Given the description of an element on the screen output the (x, y) to click on. 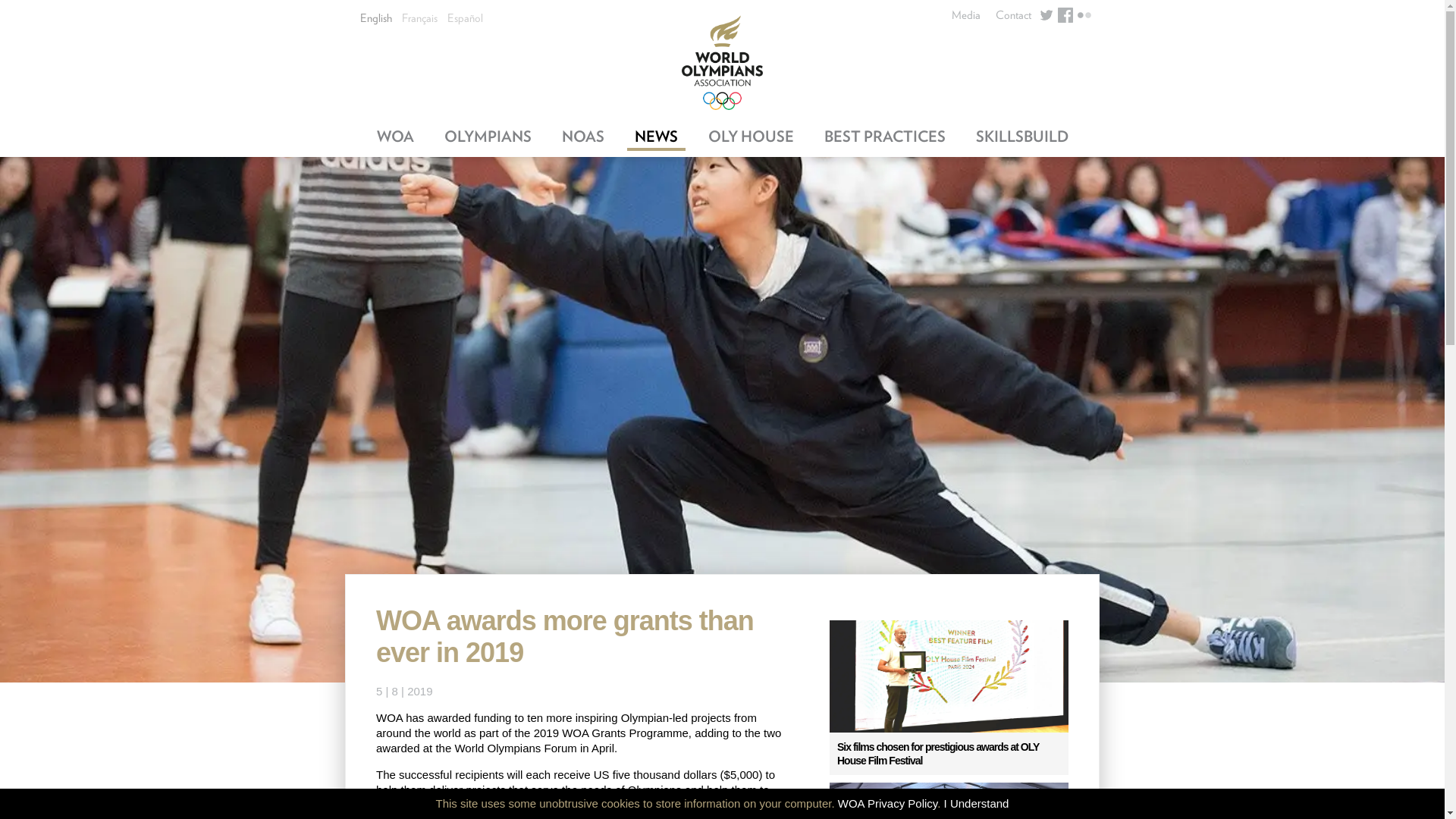
Twitter (1046, 14)
World Olympians Association (722, 62)
NOAS (582, 137)
OLYMPIANS (487, 137)
NEWS (655, 137)
Facebook (1065, 14)
English (375, 18)
SkillsBuild (1021, 137)
World Olympians Association Homepage (722, 62)
Best Practices (883, 137)
